Given the description of an element on the screen output the (x, y) to click on. 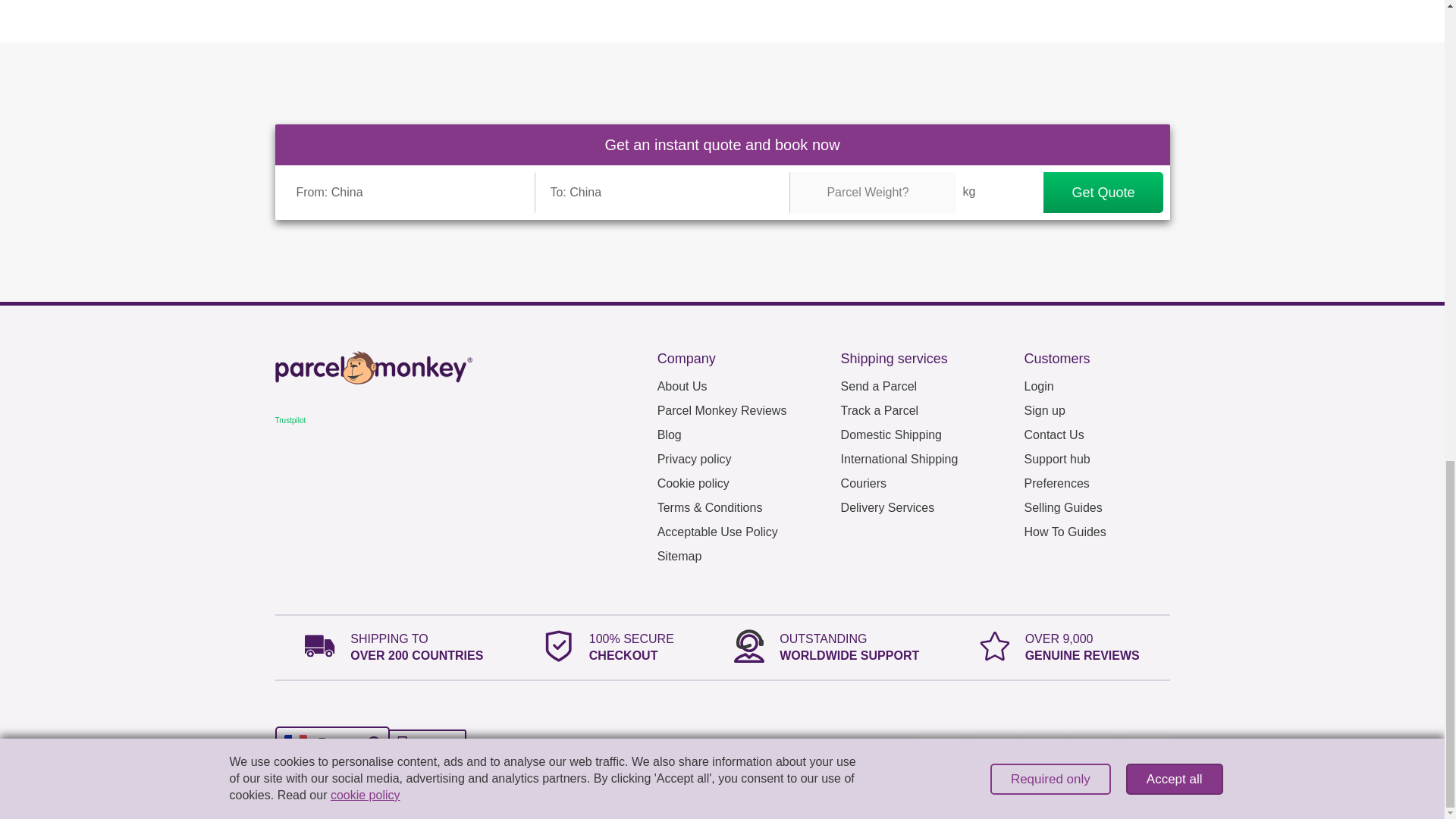
Get Quote (1102, 191)
